Given the description of an element on the screen output the (x, y) to click on. 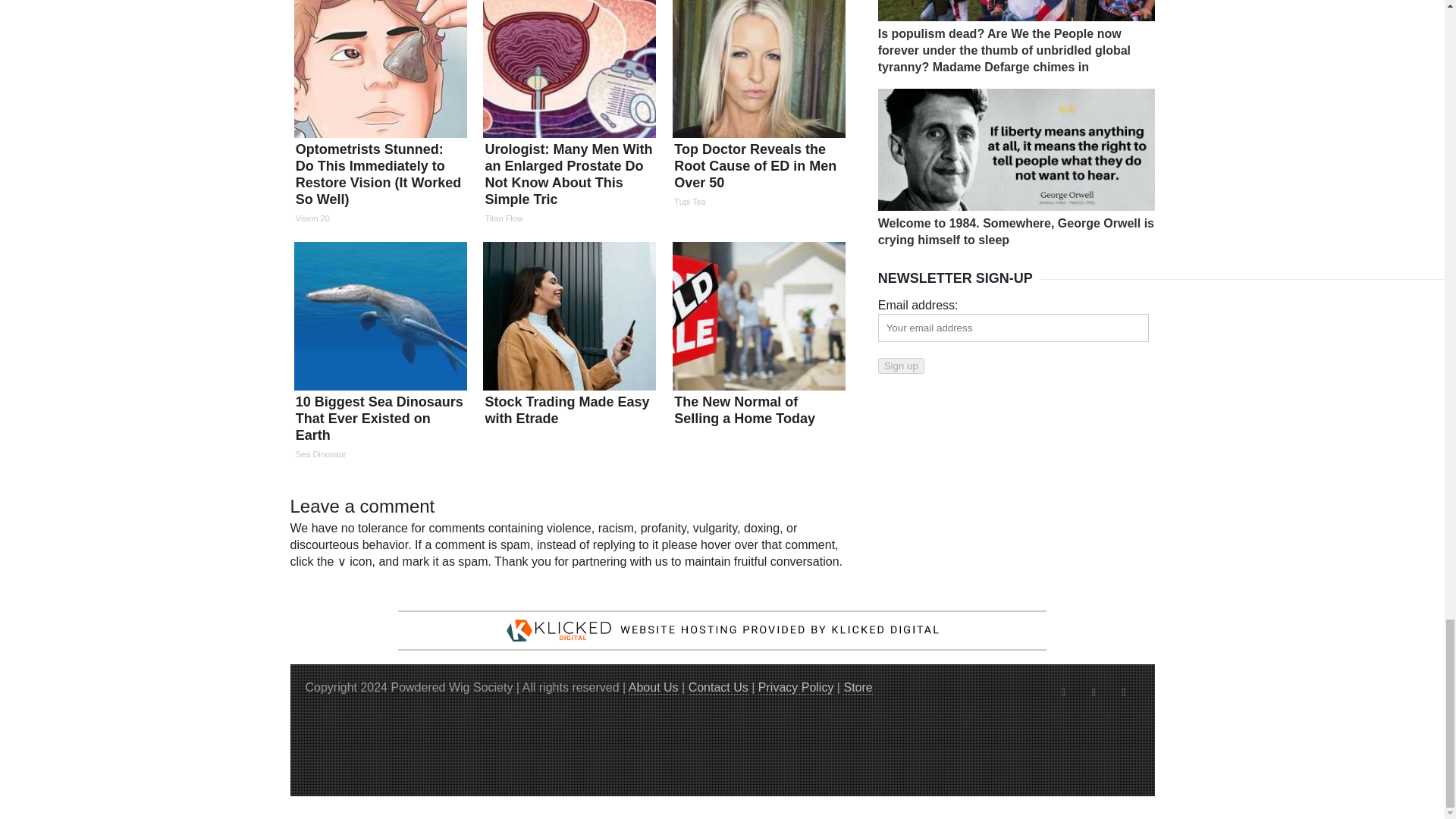
Sign up (900, 365)
